Given the description of an element on the screen output the (x, y) to click on. 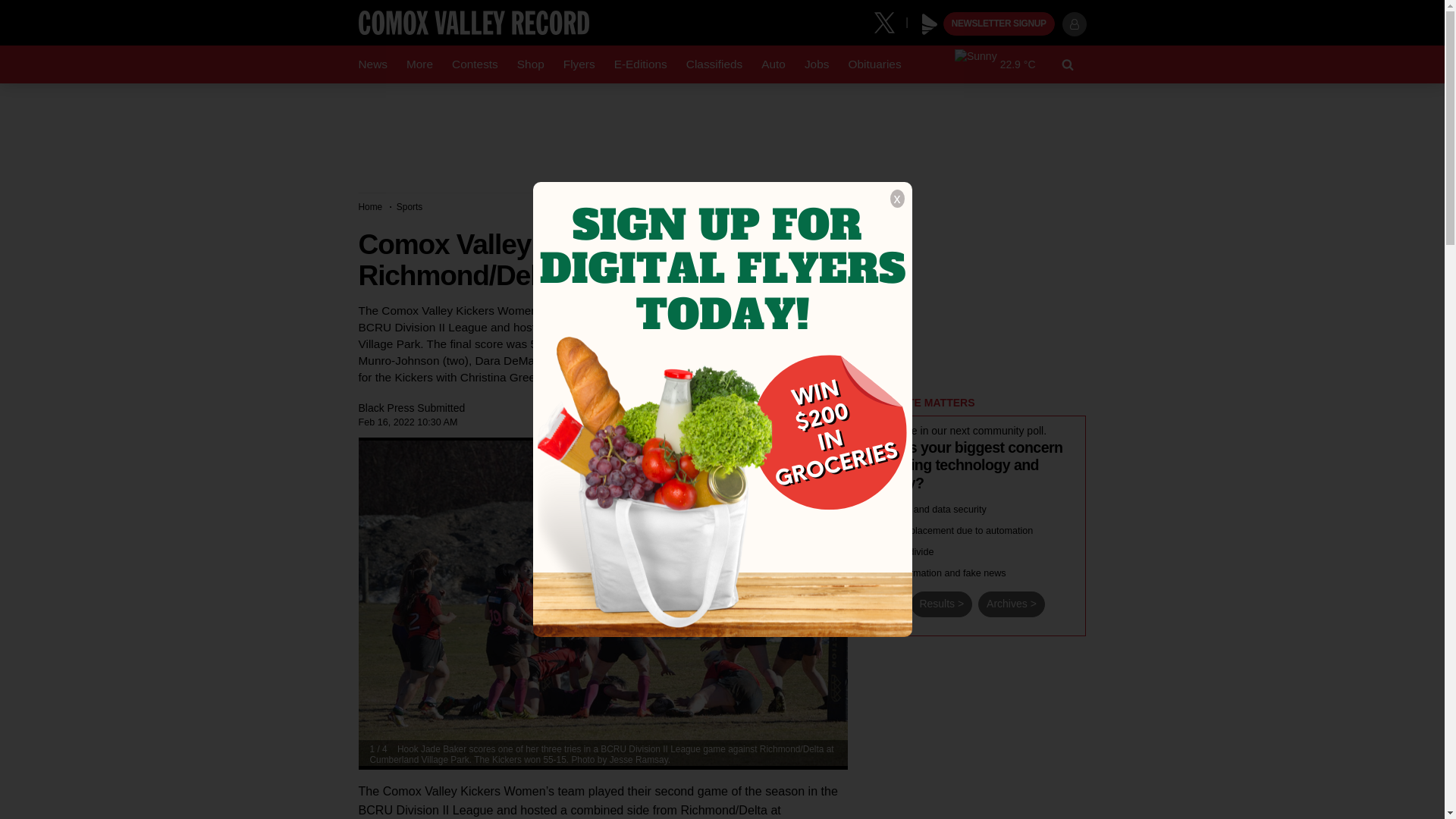
Black Press Media (929, 24)
X (889, 21)
152 (872, 550)
151 (872, 528)
News (372, 64)
Play (929, 24)
Expand (829, 452)
NEWSLETTER SIGNUP (998, 24)
153 (872, 571)
150 (872, 507)
